Given the description of an element on the screen output the (x, y) to click on. 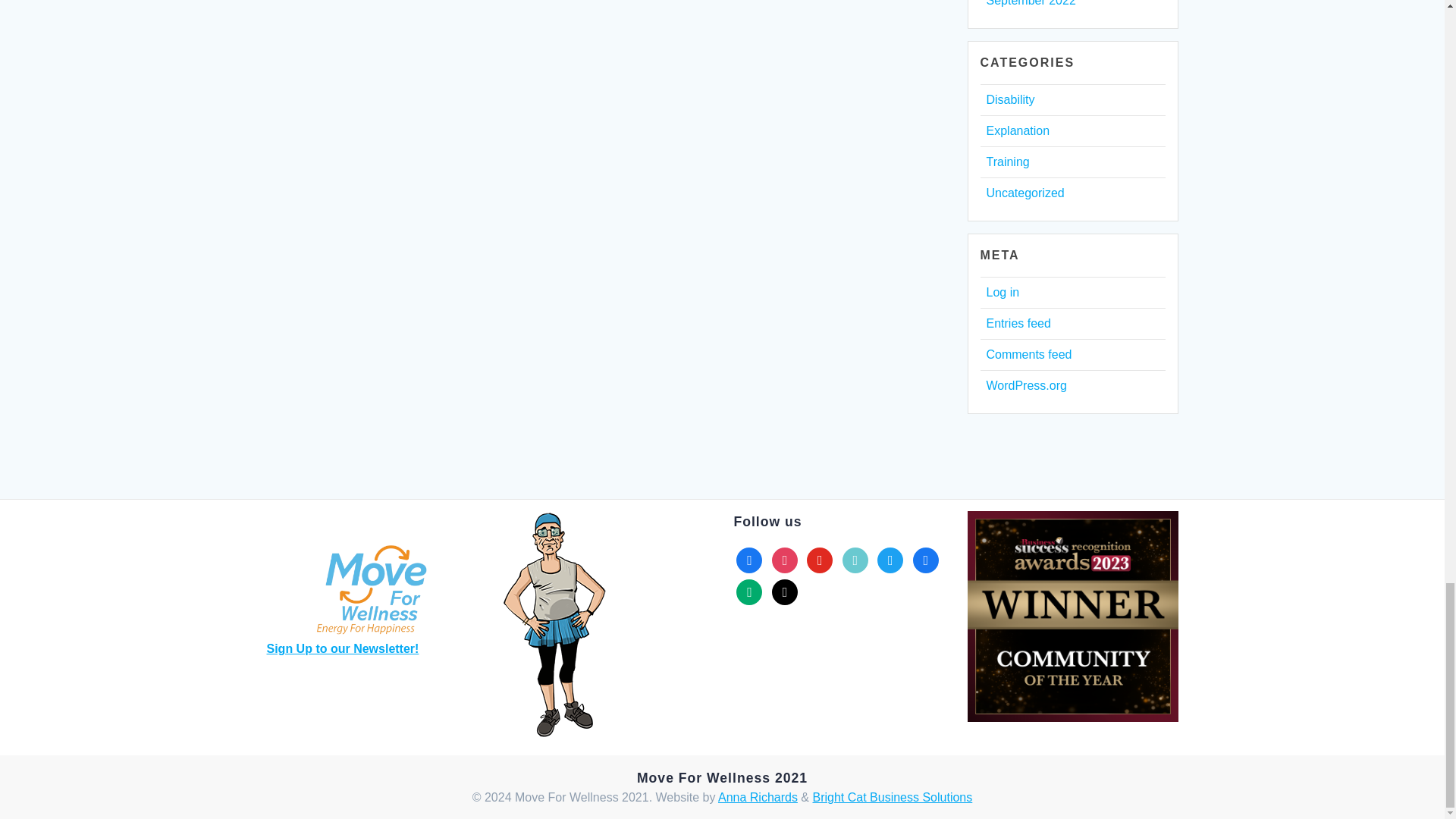
Facebook Group (925, 558)
Instagram (784, 558)
Youtube (819, 558)
Facebook Page (748, 558)
Twitter (889, 558)
Medium (748, 590)
Email (784, 590)
TikTok (855, 558)
